Given the description of an element on the screen output the (x, y) to click on. 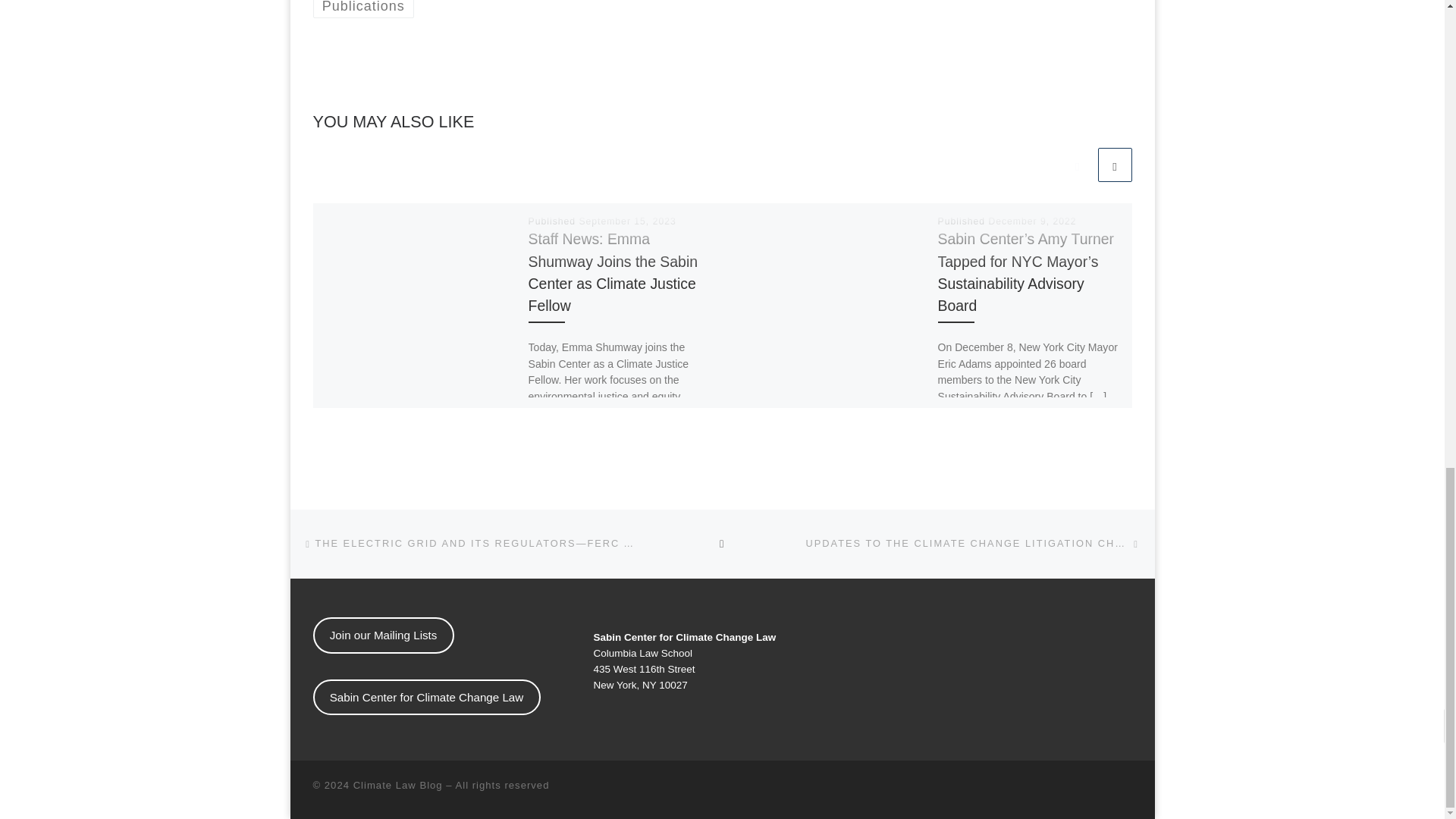
Next related articles (1114, 164)
Previous related articles (1076, 164)
View all posts in Publications (363, 9)
Climate Law Blog (397, 785)
